Given the description of an element on the screen output the (x, y) to click on. 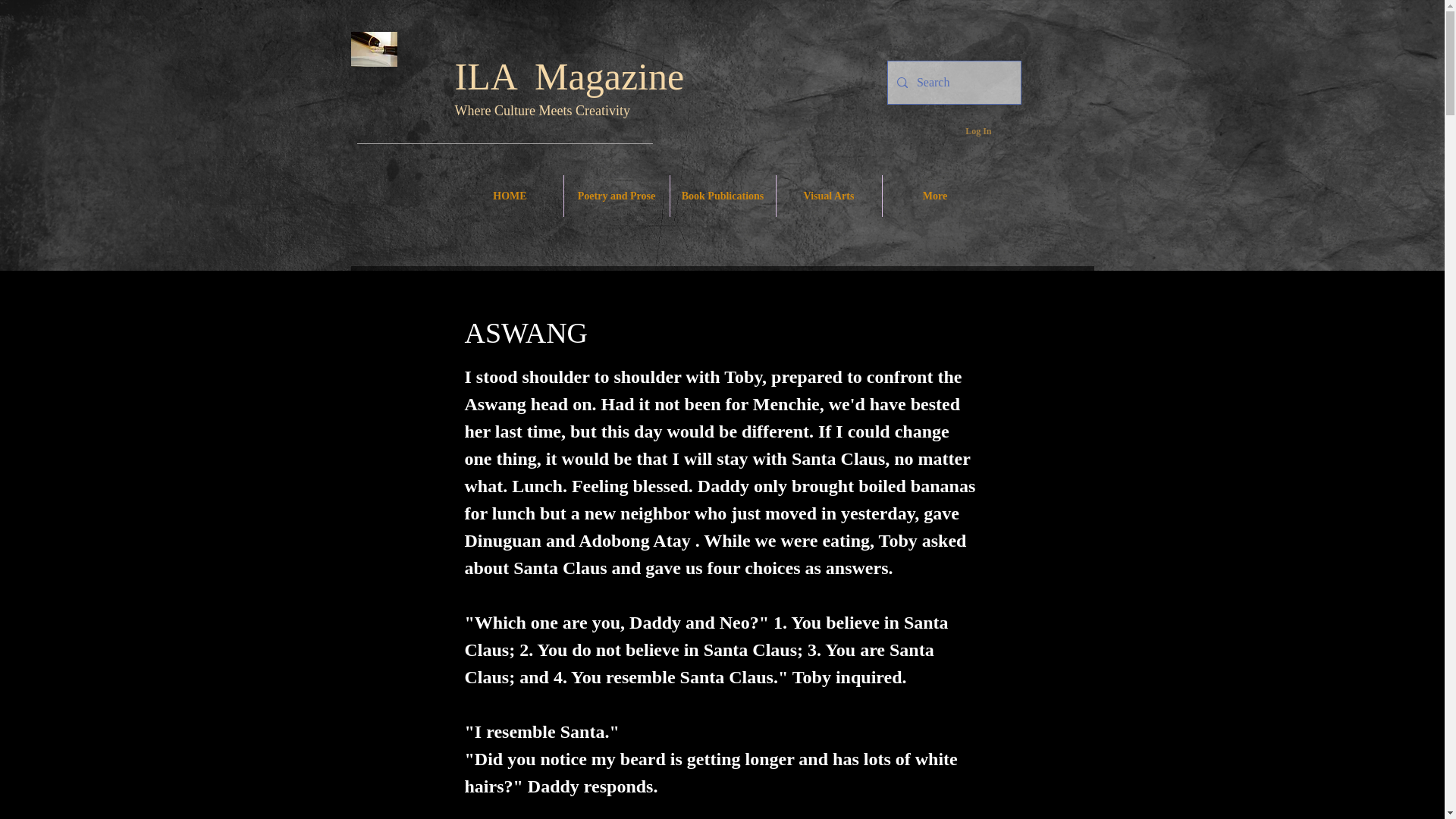
HOME (509, 196)
Visual Arts (829, 196)
Book Publications (722, 196)
ILA  Magazine (569, 76)
Poetry and Prose (616, 196)
Log In (978, 131)
More (935, 196)
